Given the description of an element on the screen output the (x, y) to click on. 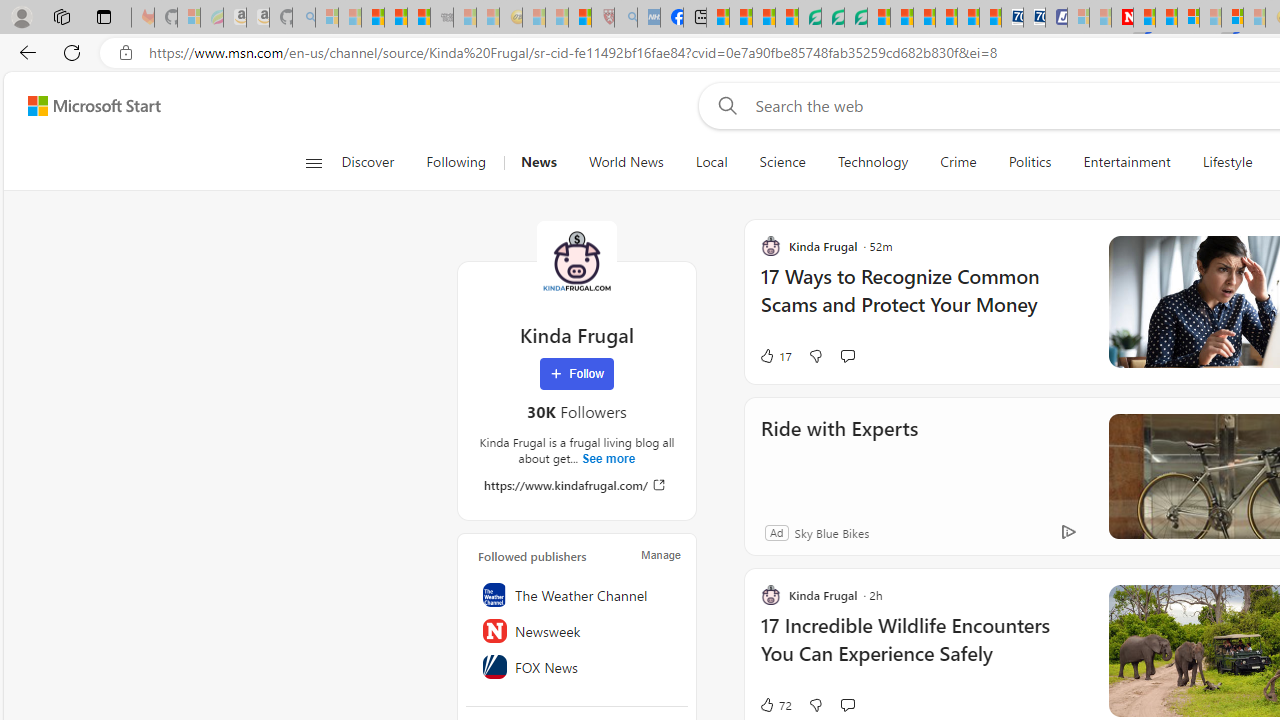
See more (608, 458)
World - MSN (763, 17)
Lifestyle (1227, 162)
Entertainment (1126, 162)
FOX News (577, 667)
Microsoft-Report a Concern to Bing - Sleeping (188, 17)
Politics (1029, 162)
The Weather Channel (577, 595)
Microsoft Word - consumer-privacy address update 2.2021 (855, 17)
Cheap Car Rentals - Save70.com (1012, 17)
Ad Choice (1068, 532)
